Given the description of an element on the screen output the (x, y) to click on. 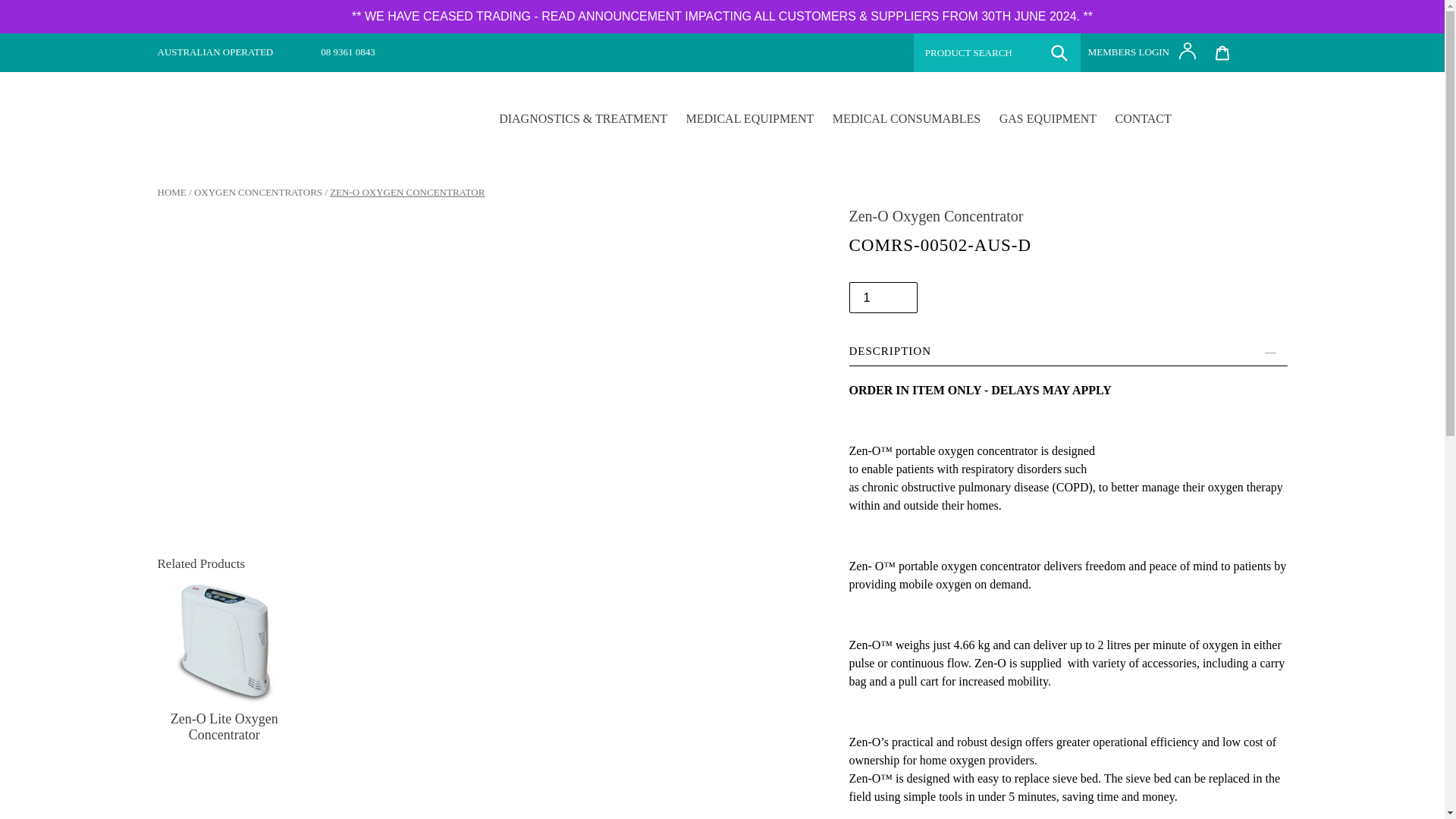
Zen-O Lite Oxygen Concentrator (224, 701)
Translation missing: en.general.breadcrumbs.home (171, 192)
1 (882, 296)
